Given the description of an element on the screen output the (x, y) to click on. 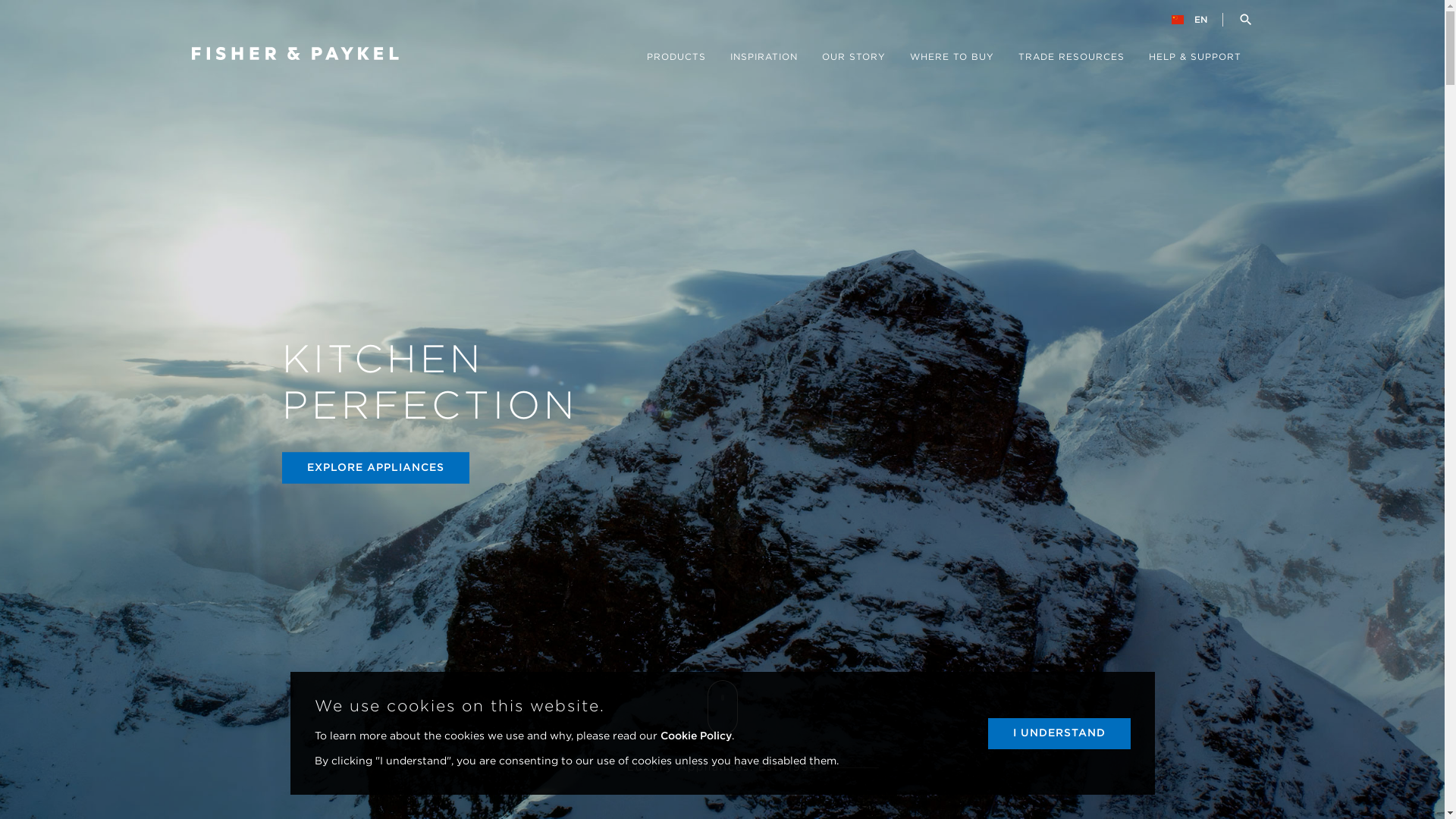
Explore Appliances Element type: hover (721, 707)
I UNDERSTAND Element type: text (1058, 733)
EN Element type: text (1195, 19)
PRODUCTS Element type: text (675, 64)
HELP & SUPPORT Element type: text (1193, 64)
EXPLORE APPLIANCES Element type: text (375, 467)
TRADE RESOURCES Element type: text (1070, 64)
INSPIRATION Element type: text (763, 64)
WHERE TO BUY Element type: text (951, 64)
Cookie Policy Element type: text (695, 735)
OUR STORY Element type: text (853, 64)
Fisher & Paykel China Element type: hover (294, 53)
